Given the description of an element on the screen output the (x, y) to click on. 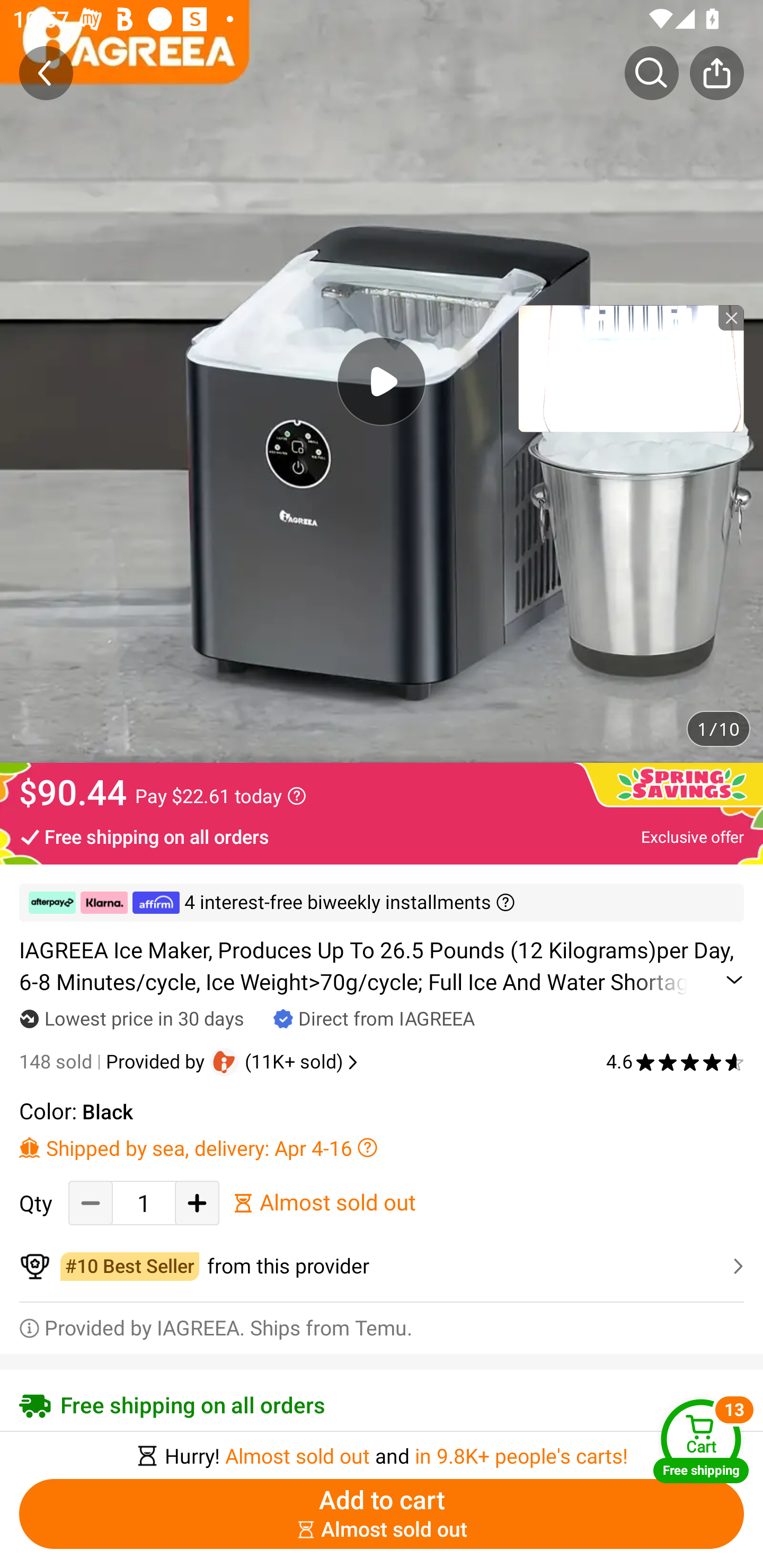
Back (46, 72)
Share (716, 72)
tronplayer_view (631, 368)
Pay $22.61 today   (220, 795)
Free shipping on all orders Exclusive offer (381, 836)
￼ ￼ ￼ 4 interest-free biweekly installments ￼ (381, 902)
148 sold Provided by  (114, 1061)
4.6 (674, 1061)
Shipped by sea, delivery: Apr 4-16 (381, 1147)
Decrease Quantity Button (90, 1202)
1 (143, 1202)
Add Quantity button (196, 1202)
￼￼from this provider (381, 1265)
Cart Free shipping Cart (701, 1440)
Add to cart ￼￼Almost sold out (381, 1513)
